Given the description of an element on the screen output the (x, y) to click on. 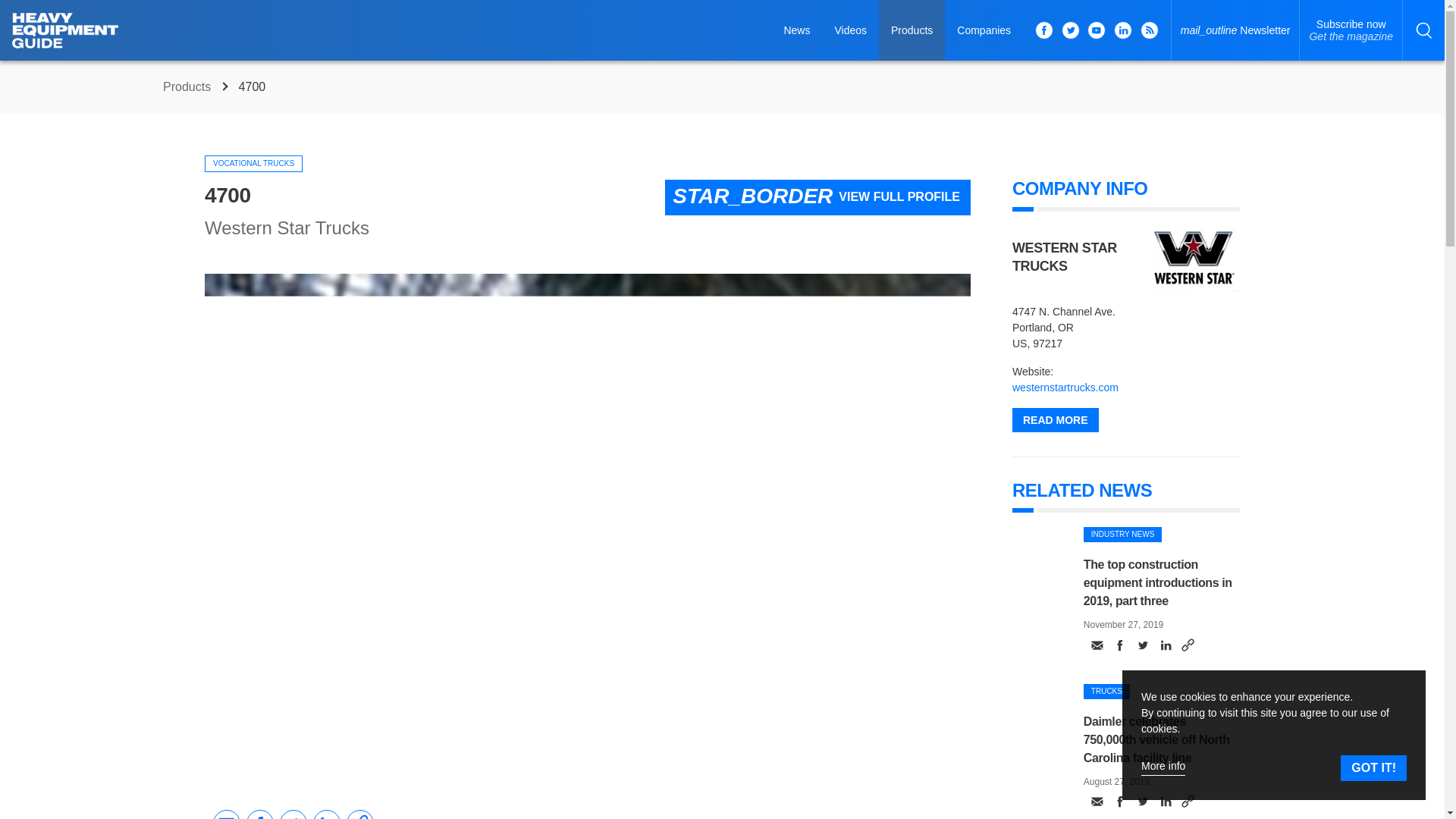
Companies (983, 30)
INDUSTRY NEWS (1122, 534)
Products (911, 30)
Videos (850, 30)
Western Star Trucks (1351, 30)
westernstartrucks.com (287, 227)
TRUCKS (1064, 387)
VOCATIONAL TRUCKS (1106, 691)
Western Star Trucks - 4700 Vocational Trucks (253, 163)
Products (1194, 257)
WESTERN STAR TRUCKS (188, 86)
READ MORE (1063, 256)
